Given the description of an element on the screen output the (x, y) to click on. 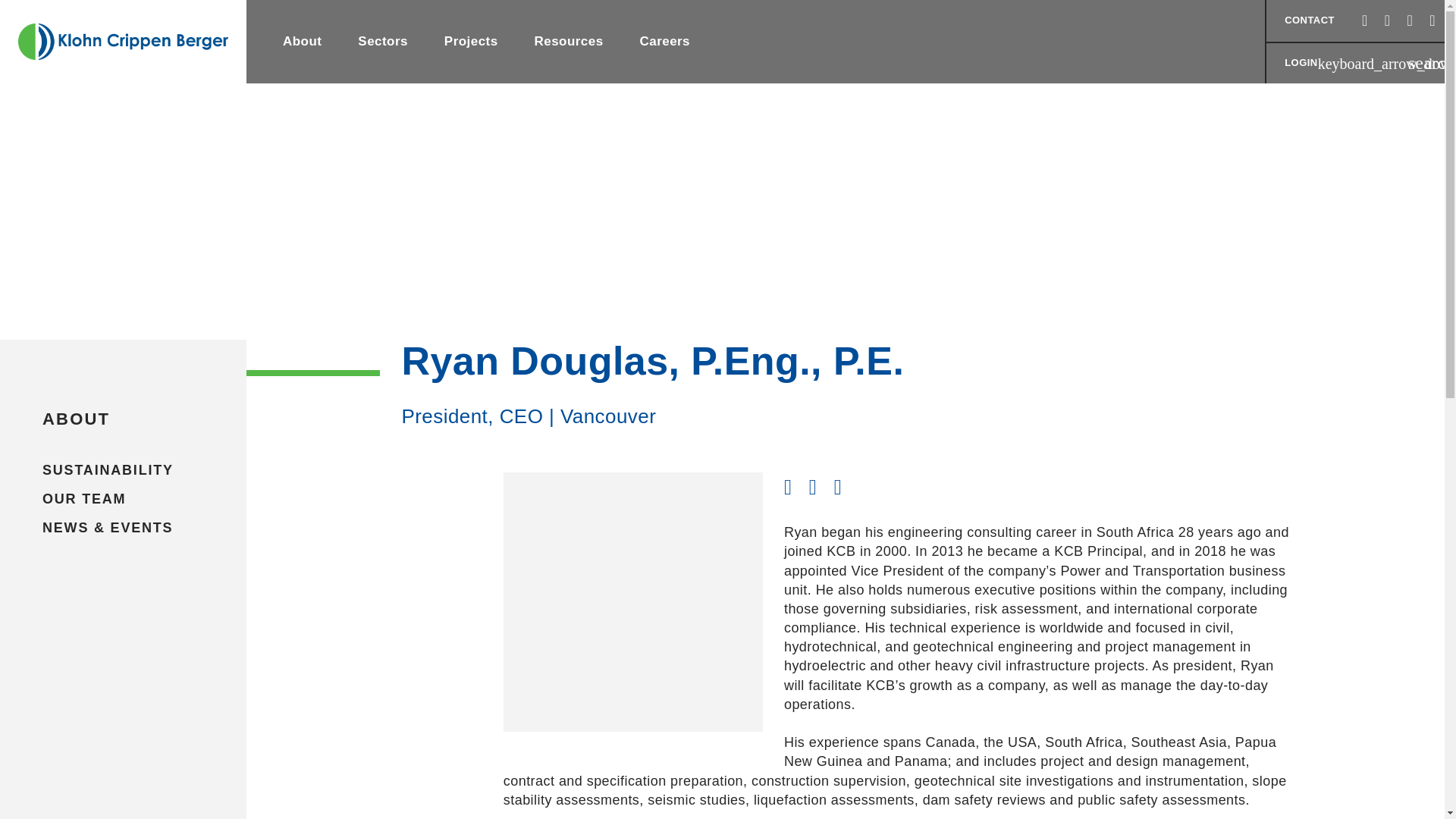
Careers (664, 41)
About (301, 41)
Sectors (382, 41)
Resources (568, 41)
ABOUT (122, 418)
Projects (471, 41)
CONTACT (1309, 20)
SUSTAINABILITY (122, 470)
OUR TEAM (122, 499)
